Given the description of an element on the screen output the (x, y) to click on. 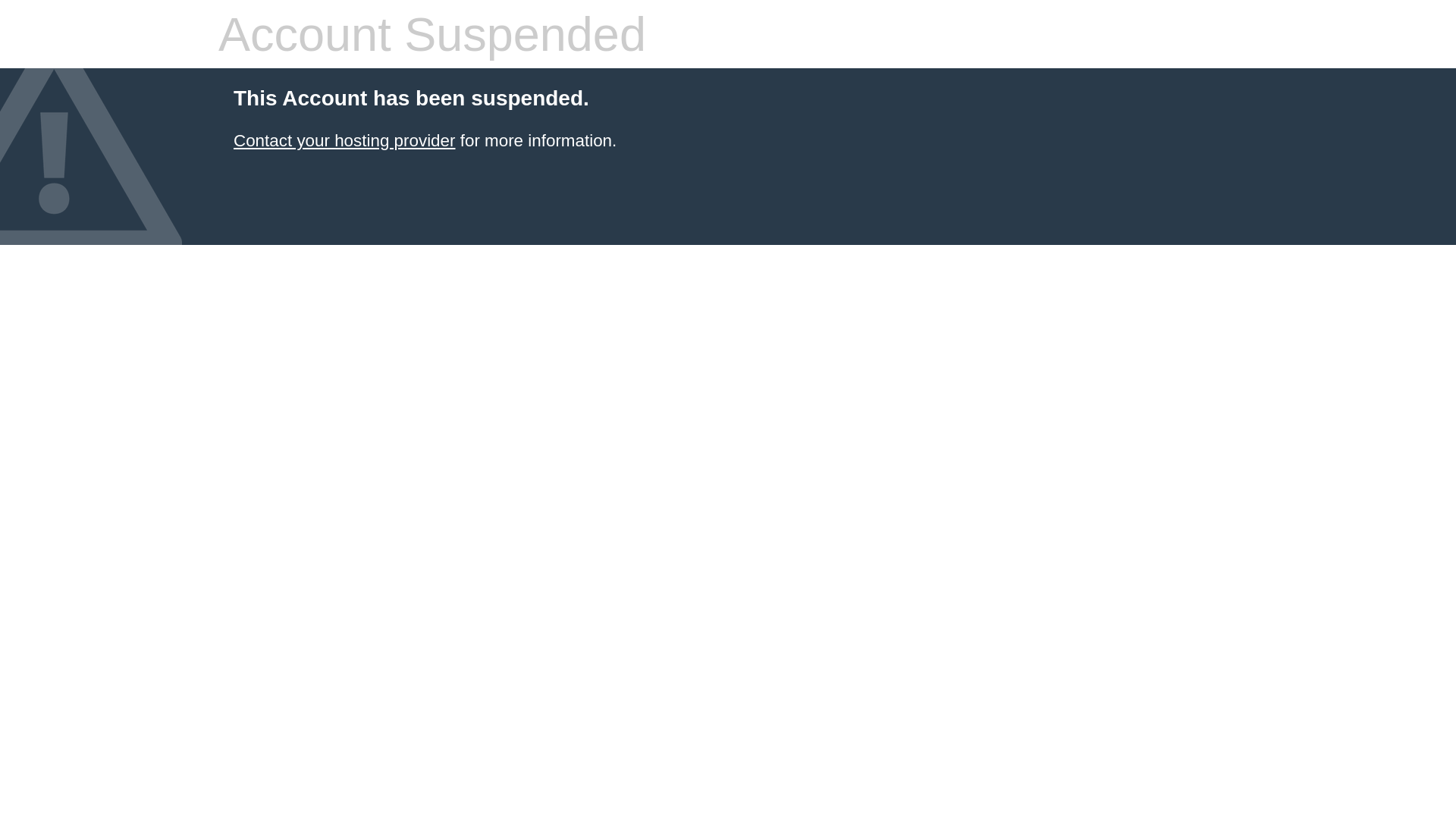
Contact your hosting provider Element type: text (344, 140)
